Given the description of an element on the screen output the (x, y) to click on. 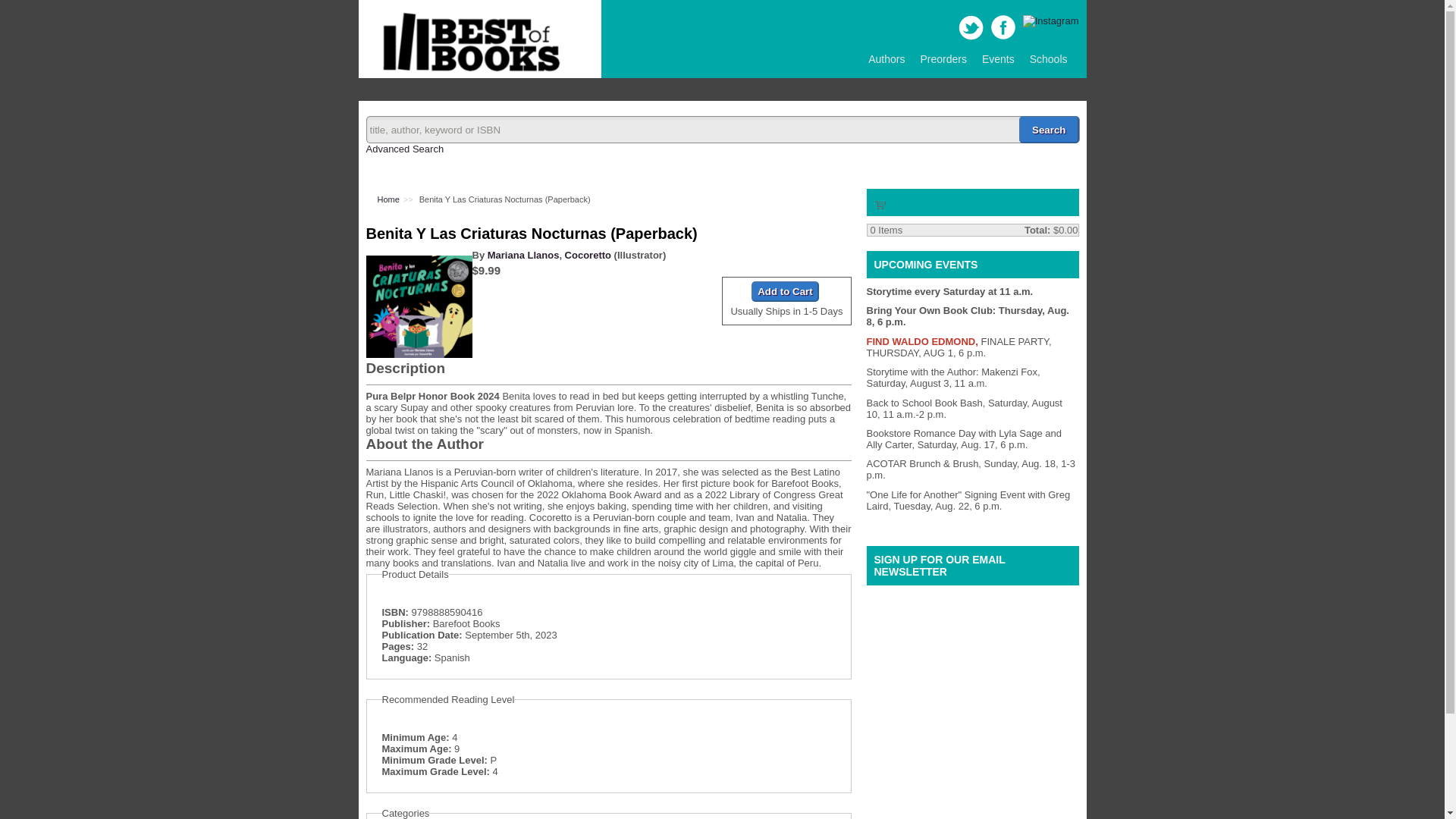
Schools (1048, 58)
Events (998, 58)
Authors (886, 58)
Advanced Search (404, 148)
Events (998, 58)
Home (467, 71)
Enter the terms you wish to search for. (721, 129)
View your shopping cart. (879, 203)
Search (1048, 129)
Search (1048, 129)
Preorders (943, 58)
Add to Cart (784, 290)
